Given the description of an element on the screen output the (x, y) to click on. 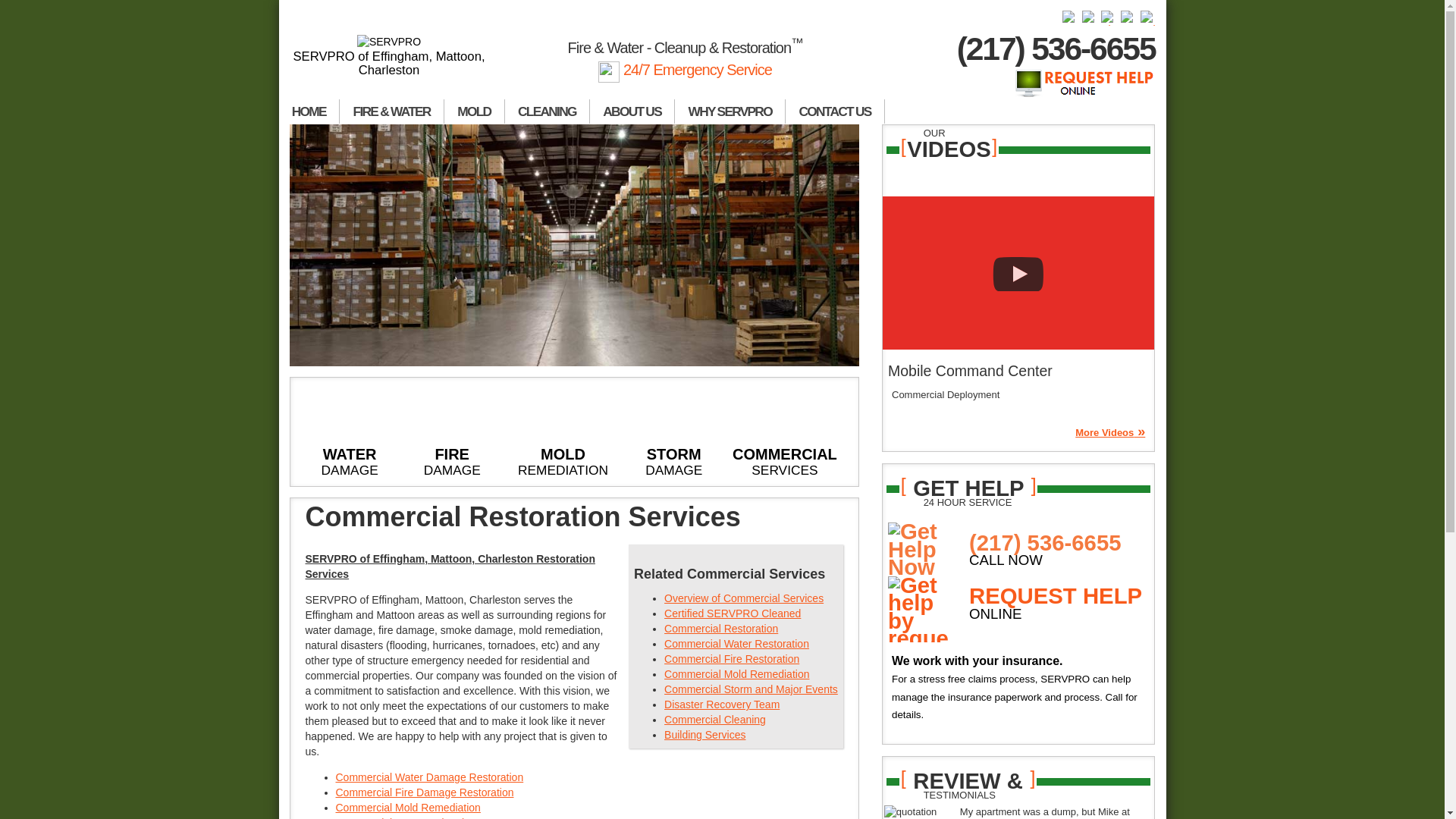
HOME (309, 111)
ABOUT US (632, 111)
MOLD (474, 111)
SERVPRO of Effingham, Mattoon, Charleston (389, 55)
CLEANING (547, 111)
